Given the description of an element on the screen output the (x, y) to click on. 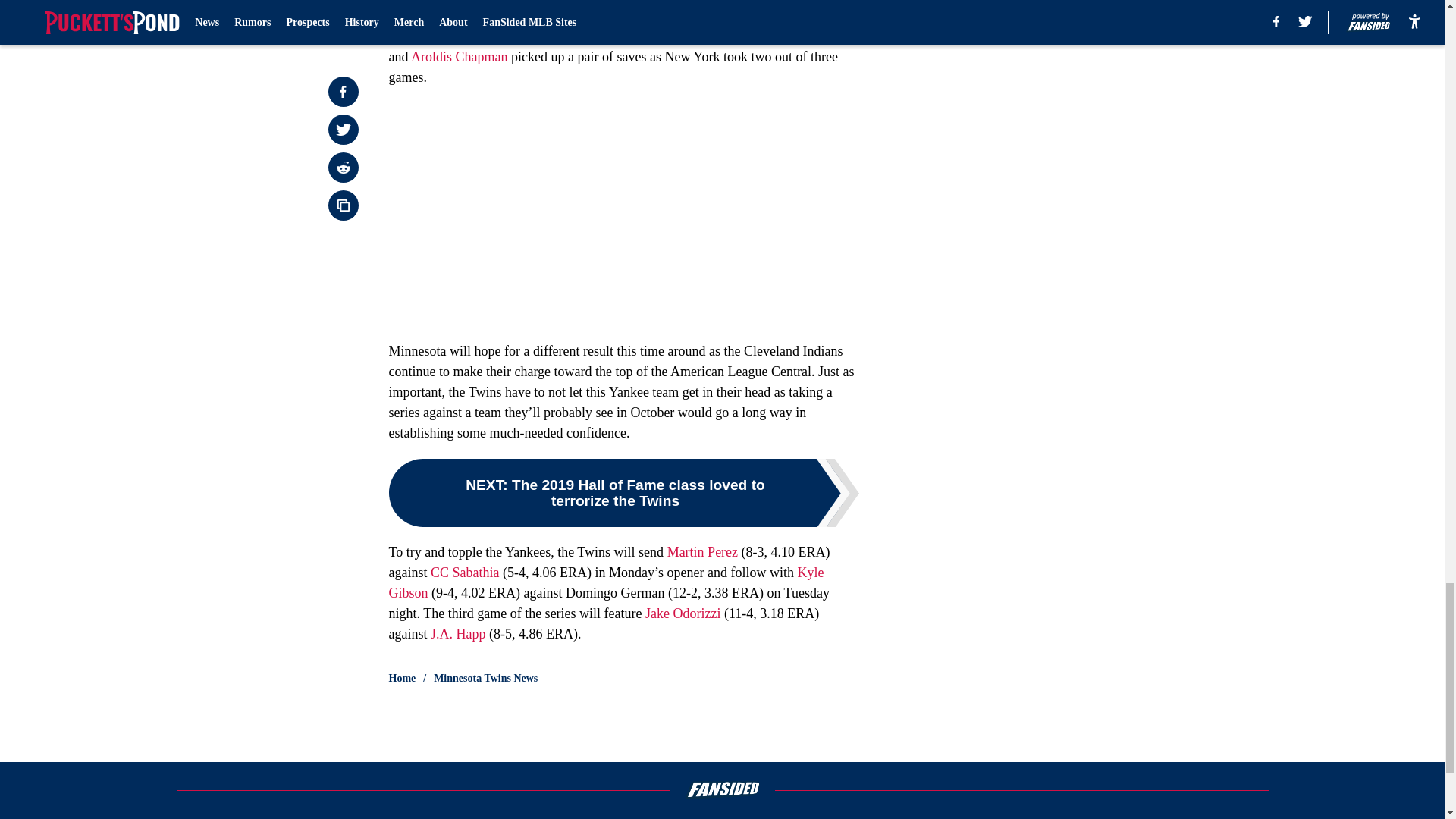
Home (401, 678)
Kyle Gibson (606, 582)
CC Sabathia (464, 572)
Jake Odorizzi (682, 613)
Martin Perez (702, 551)
J.A. Happ (458, 633)
Domingo German (528, 36)
Aroldis Chapman (459, 56)
